Given the description of an element on the screen output the (x, y) to click on. 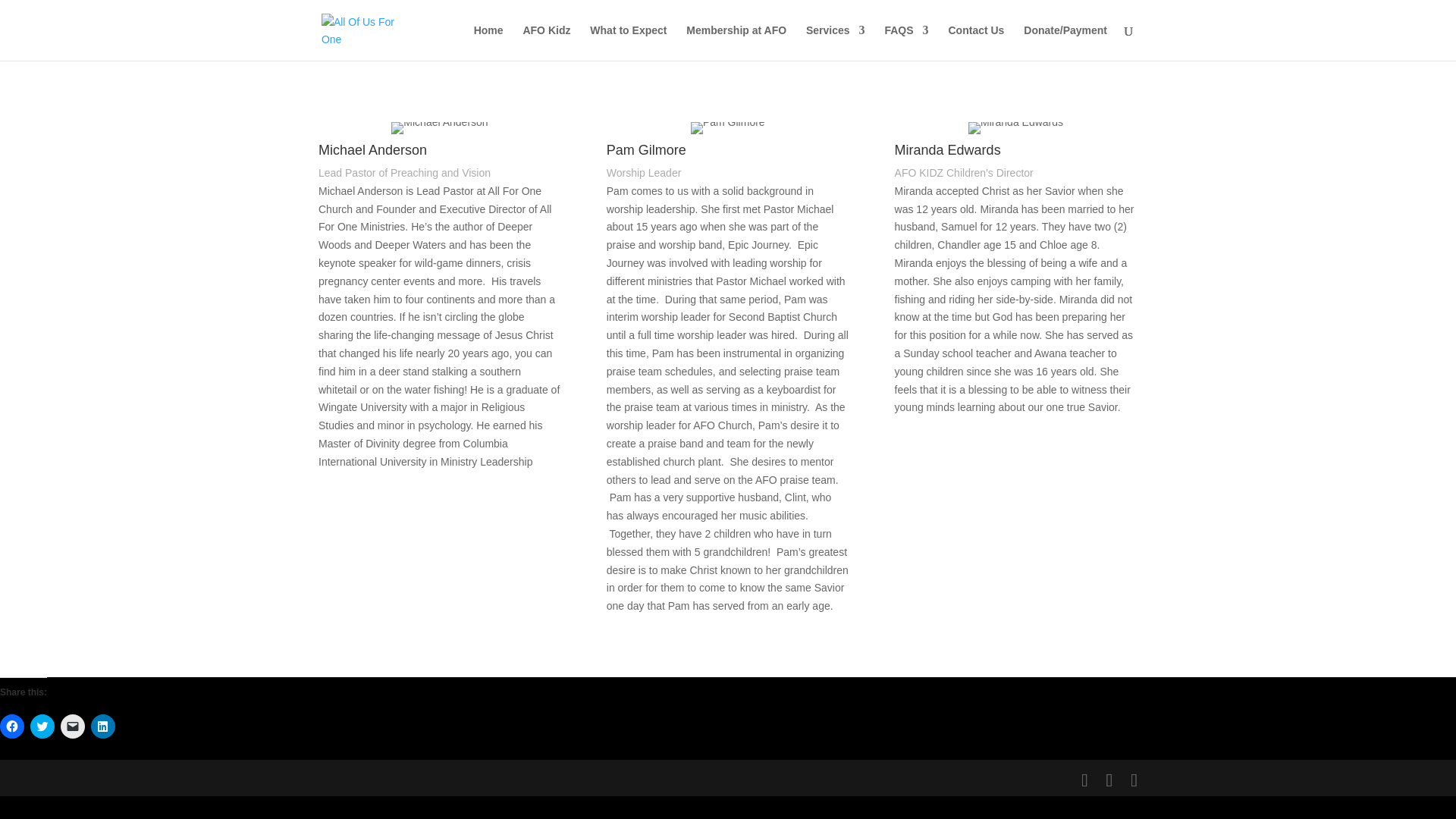
AFO Kidz (546, 42)
FAQS (905, 42)
Click to email a link to a friend (72, 726)
Page 1 (1016, 299)
Click to share on Facebook (12, 726)
Services (835, 42)
Click to share on LinkedIn (102, 726)
Click to share on Twitter (42, 726)
Membership at AFO (735, 42)
Contact Us (975, 42)
